Given the description of an element on the screen output the (x, y) to click on. 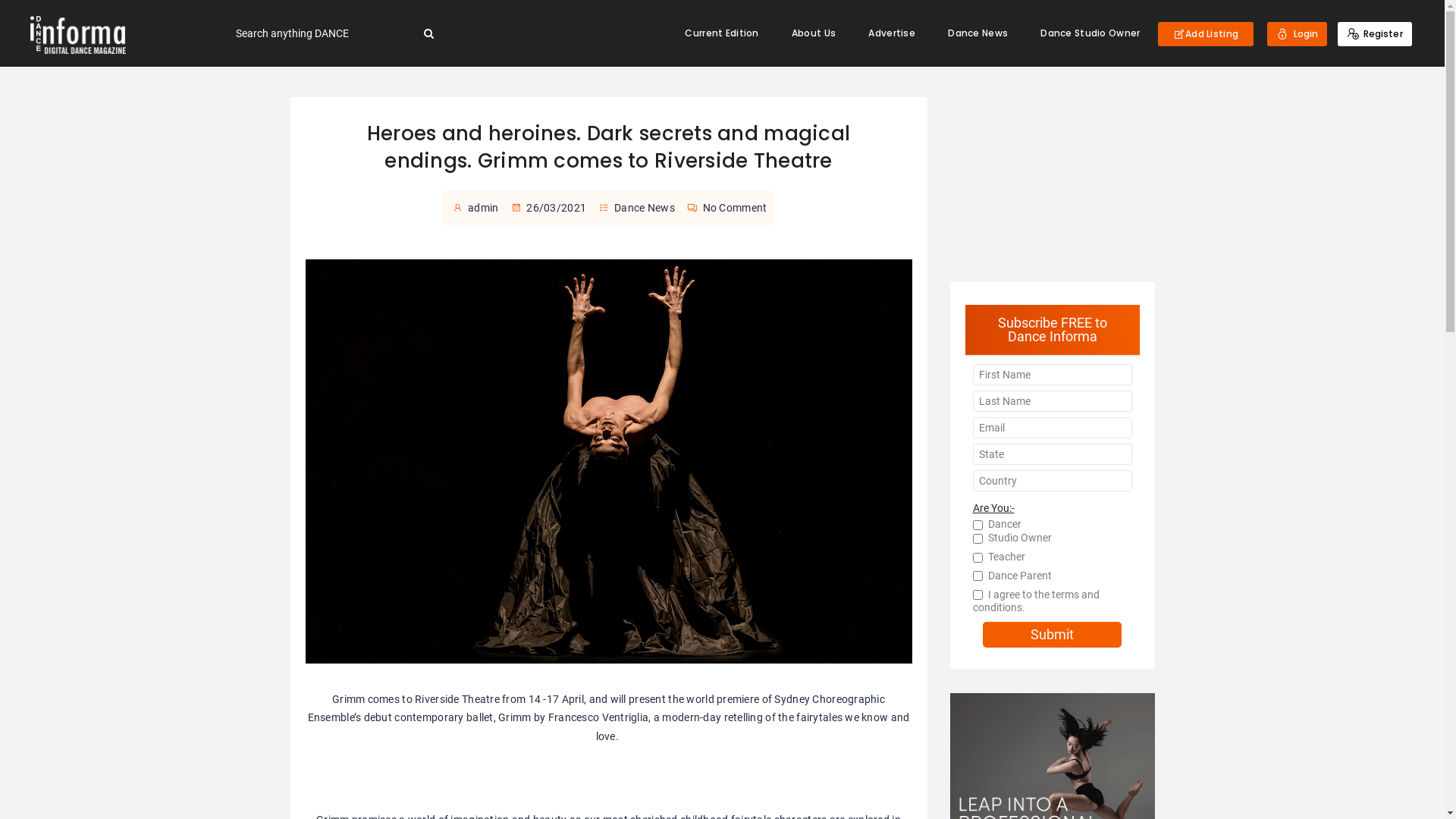
Dance News Element type: text (977, 33)
Register Element type: text (1374, 33)
Submit Element type: text (1051, 634)
Current Edition Element type: text (721, 33)
Dance Studio Owner Element type: text (1089, 33)
Add Listing Element type: text (1205, 33)
About Us Element type: text (813, 33)
Advertise Element type: text (891, 33)
Login Element type: text (1297, 33)
Dance News Element type: text (644, 207)
